Given the description of an element on the screen output the (x, y) to click on. 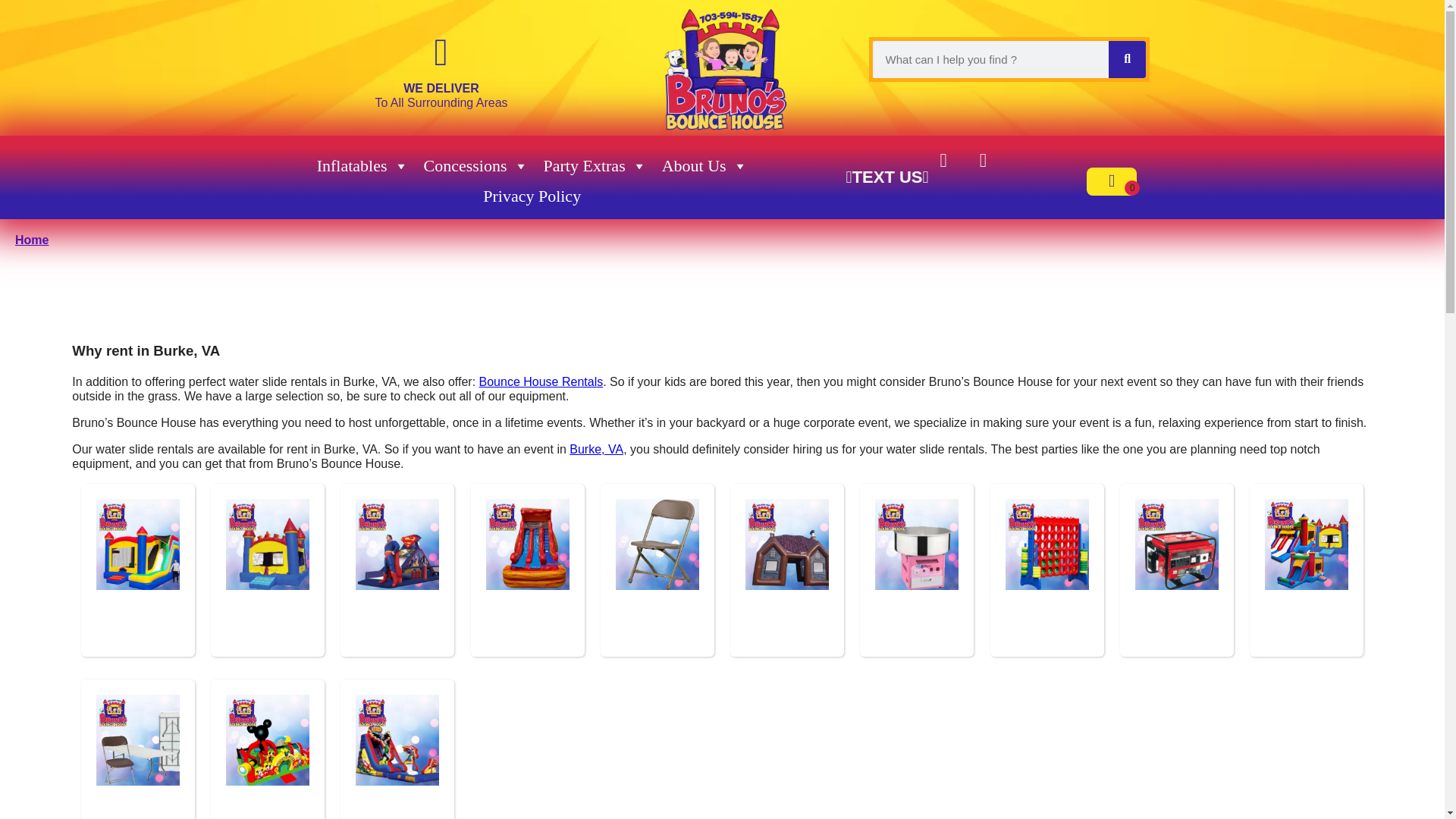
Inflatables (362, 165)
Concessions (475, 165)
Combo Bounce Houses (141, 543)
